Given the description of an element on the screen output the (x, y) to click on. 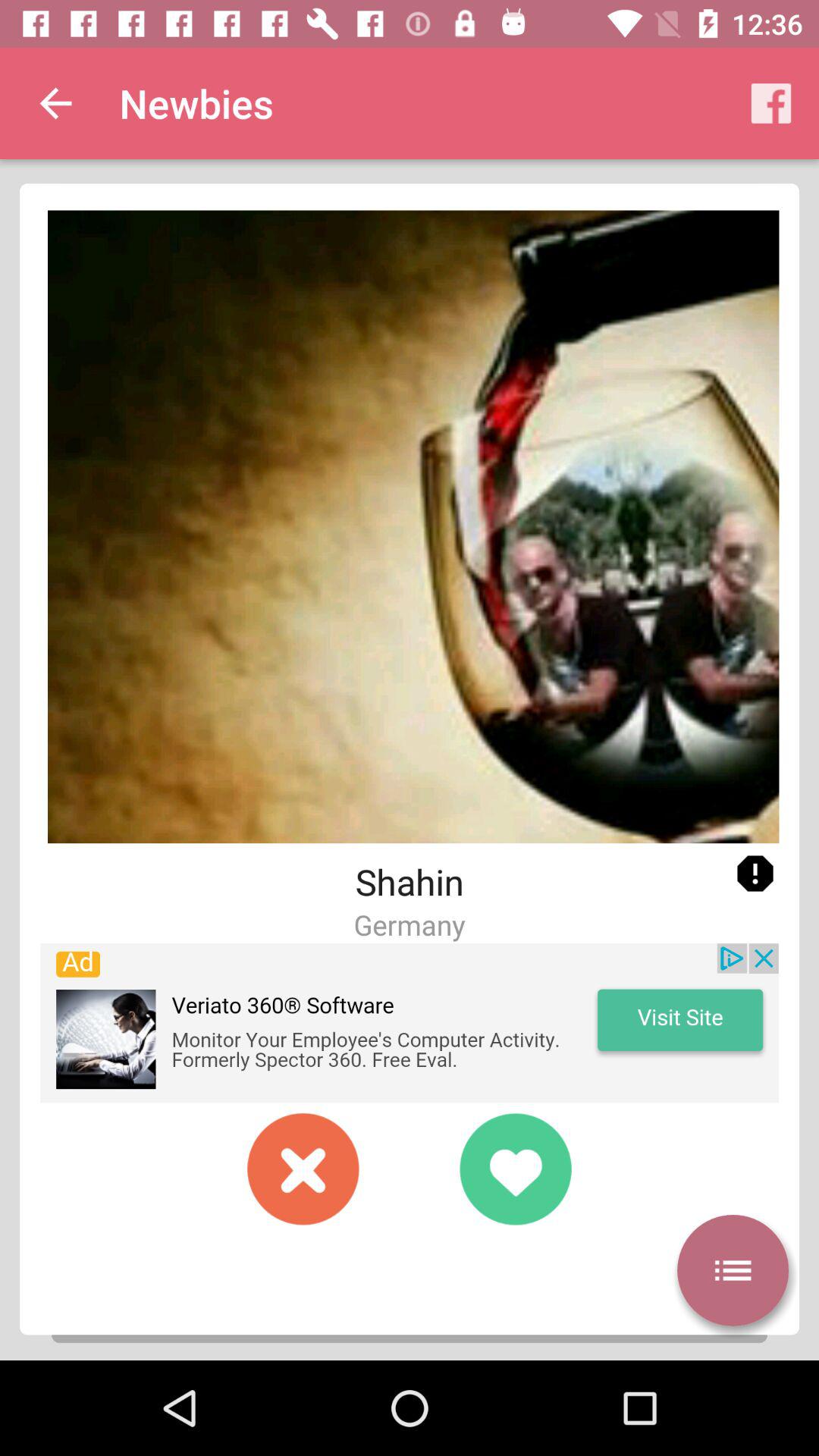
icorn (755, 873)
